Given the description of an element on the screen output the (x, y) to click on. 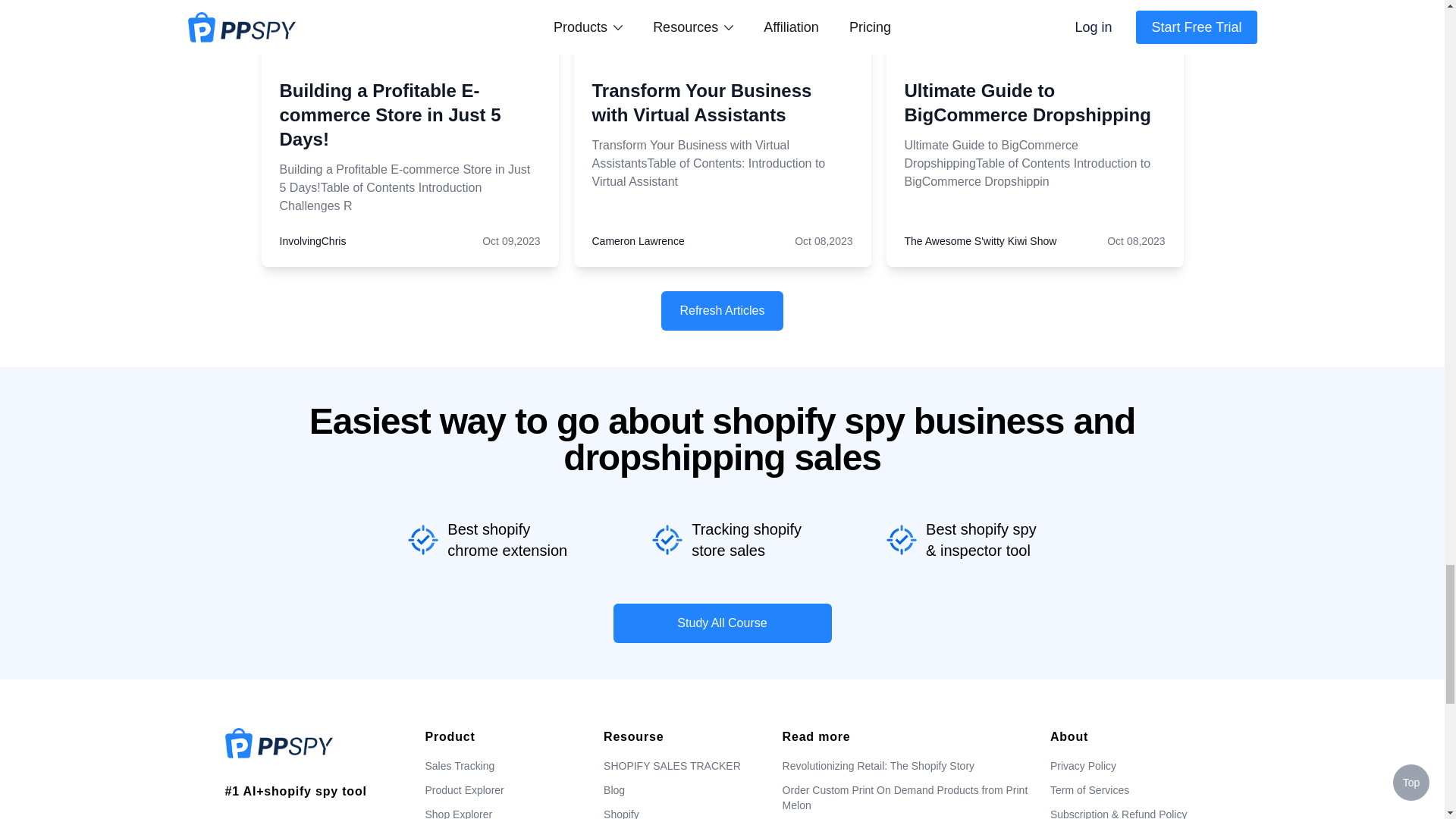
The Awesome S'witty Kiwi Show (980, 241)
Order Custom Print On Demand Products from Print Melon (362, 13)
Revolutionizing Retail: The Shopify Story (370, 65)
Cameron Lawrence (637, 241)
InvolvingChris (312, 241)
